Given the description of an element on the screen output the (x, y) to click on. 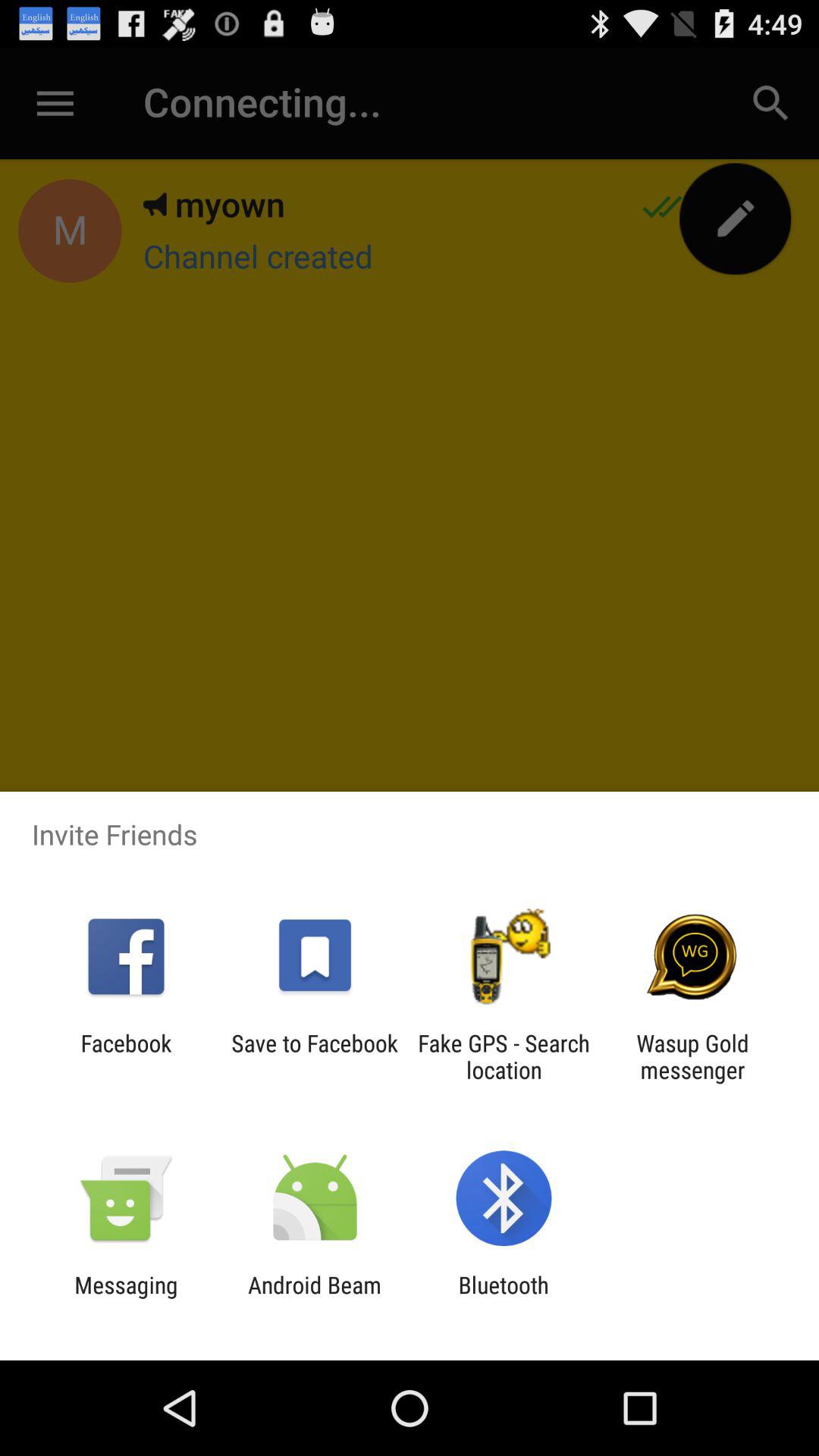
click app next to messaging app (314, 1298)
